Given the description of an element on the screen output the (x, y) to click on. 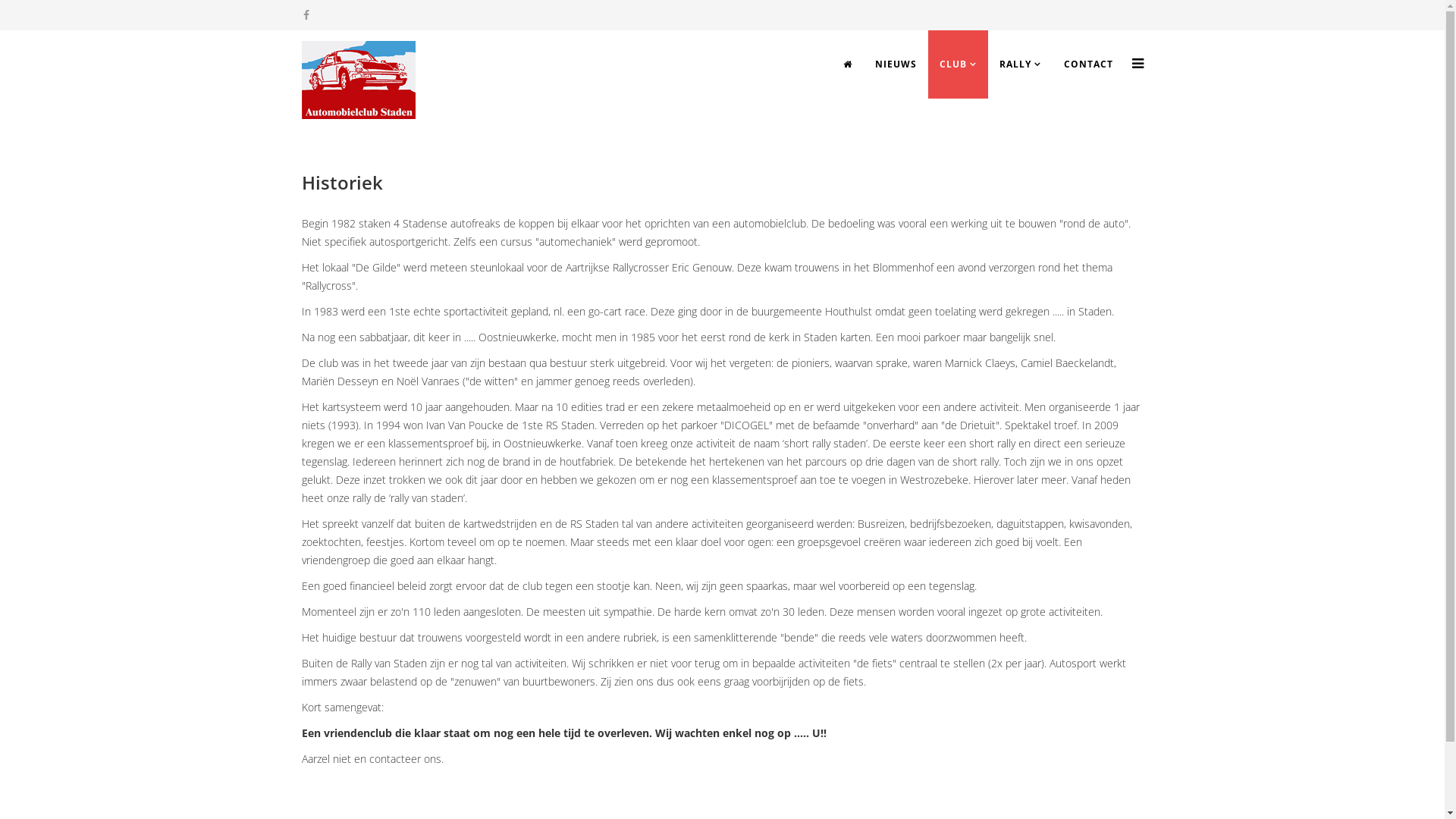
CLUB Element type: text (958, 64)
NIEUWS Element type: text (894, 64)
RALLY Element type: text (1019, 64)
CONTACT Element type: text (1088, 64)
